Given the description of an element on the screen output the (x, y) to click on. 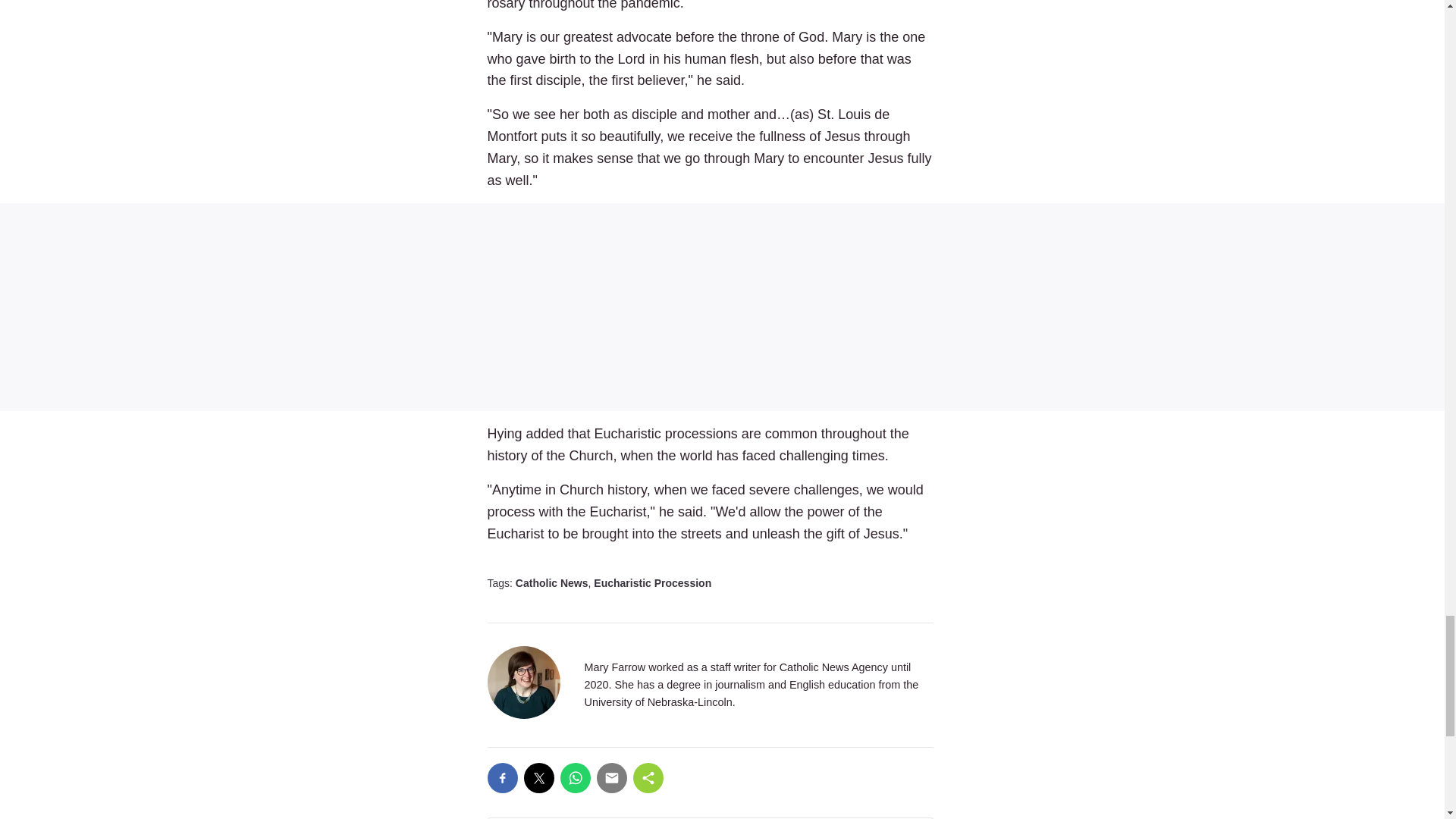
3rd party ad content (721, 307)
